Given the description of an element on the screen output the (x, y) to click on. 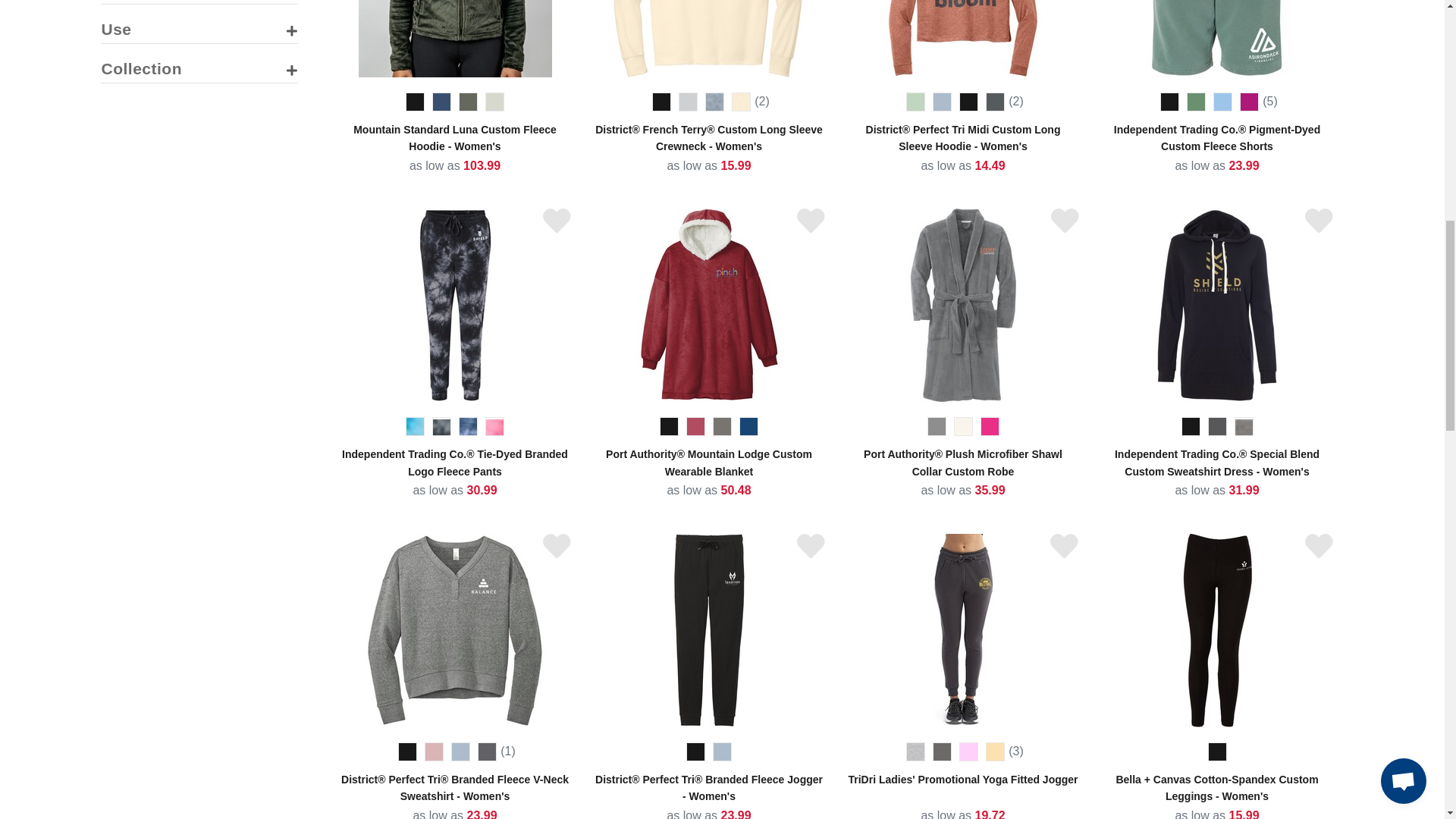
True Black (415, 101)
